Given the description of an element on the screen output the (x, y) to click on. 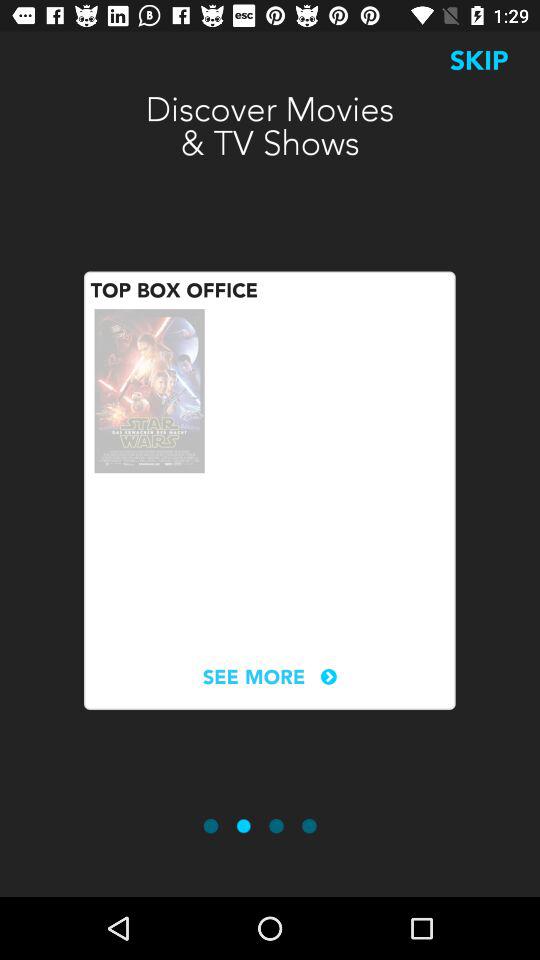
scroll to skip (479, 60)
